Given the description of an element on the screen output the (x, y) to click on. 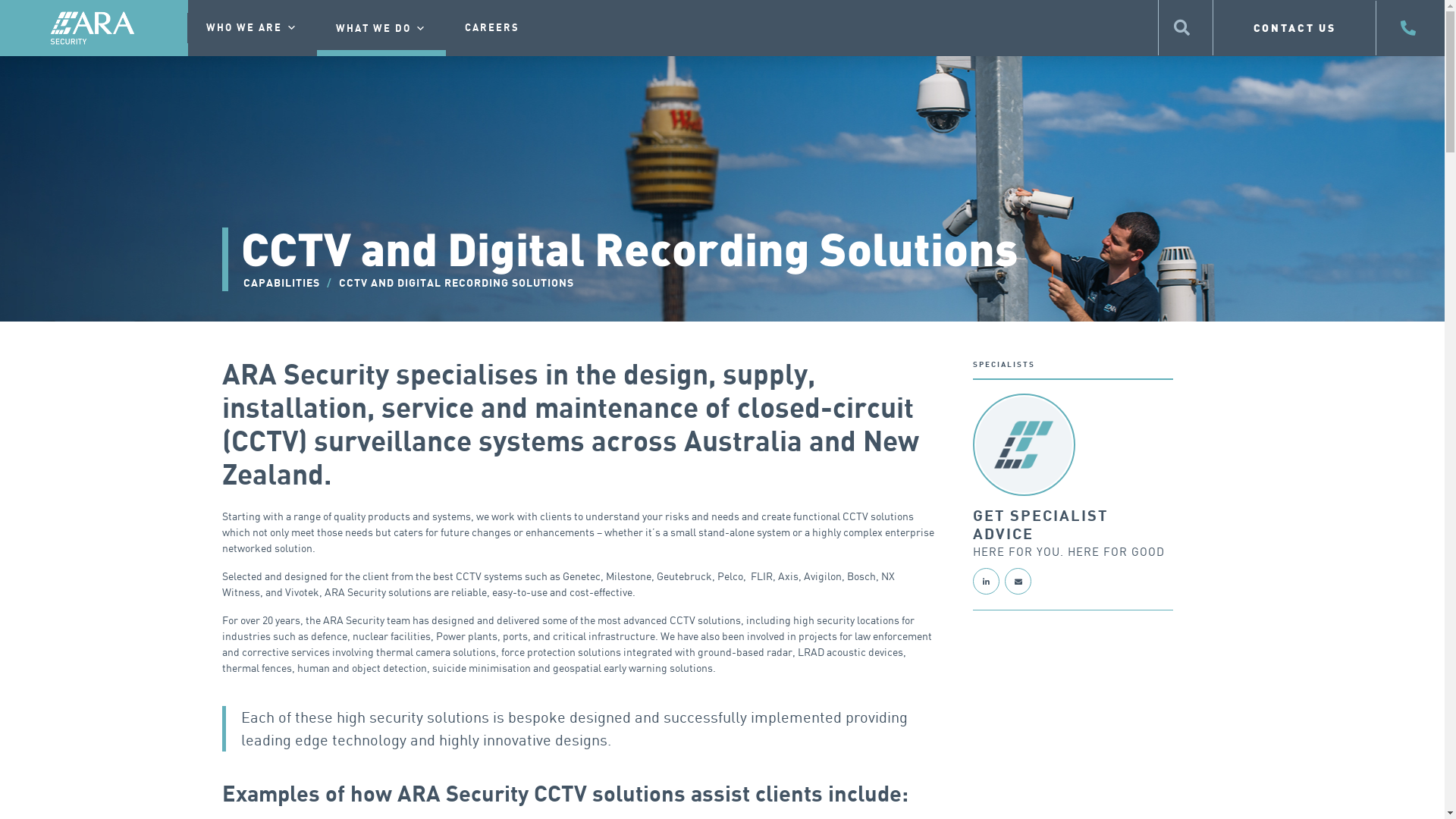
CONTACT US Element type: text (1294, 27)
CAREERS Element type: text (491, 27)
CAPABILITIES Element type: text (280, 282)
WHAT WE DO Element type: text (380, 28)
WHO WE ARE Element type: text (251, 27)
